Given the description of an element on the screen output the (x, y) to click on. 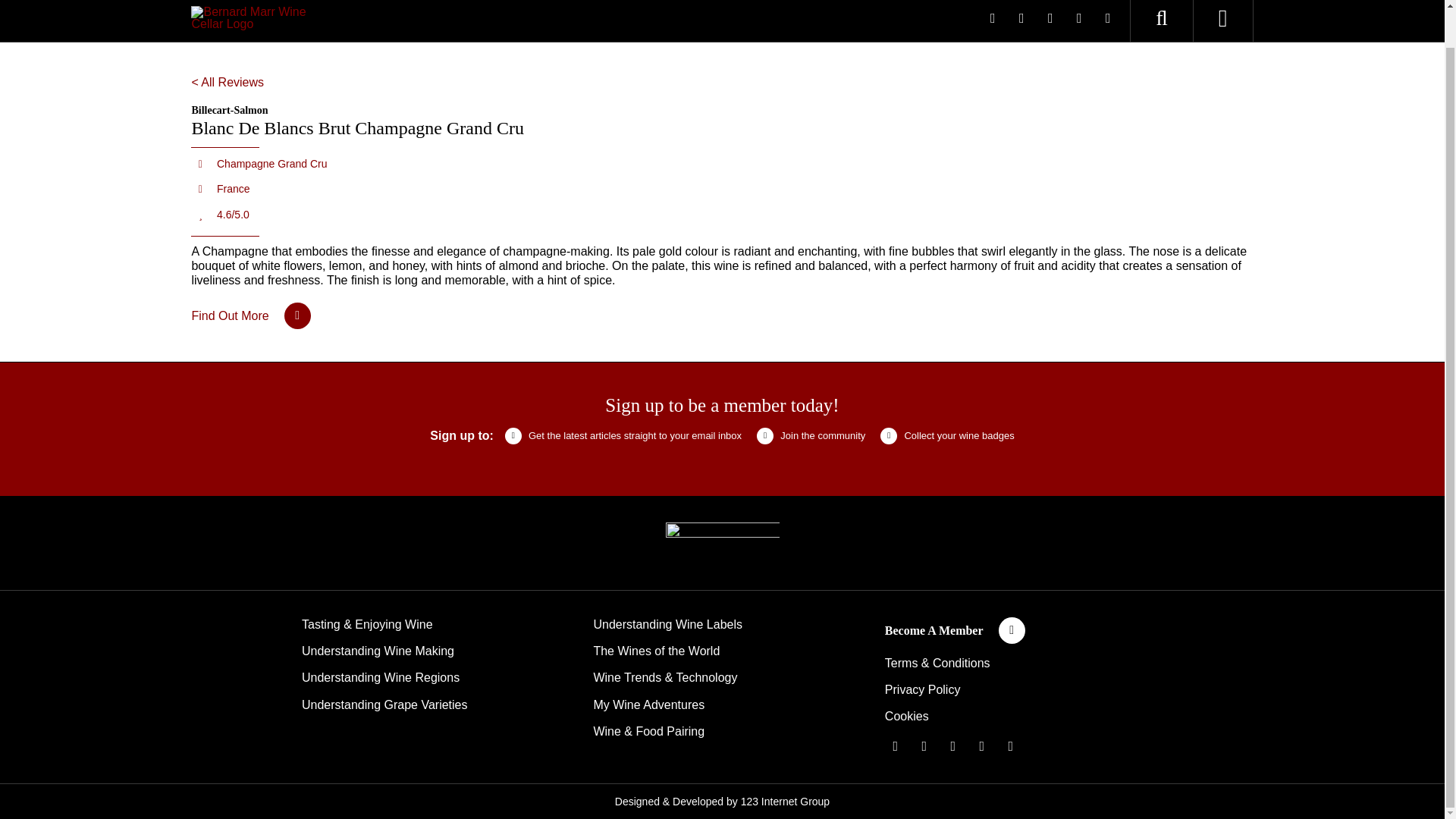
Understanding Grape Varieties (384, 704)
Blanc de Blancs Brut Champagne Grand Cru (250, 315)
Instagram (1050, 17)
Privacy Policy (922, 689)
The Wines of the World (655, 650)
Facebook (895, 745)
Instagram (952, 745)
Become A Member (955, 630)
Facebook (992, 17)
Email (1011, 745)
